Given the description of an element on the screen output the (x, y) to click on. 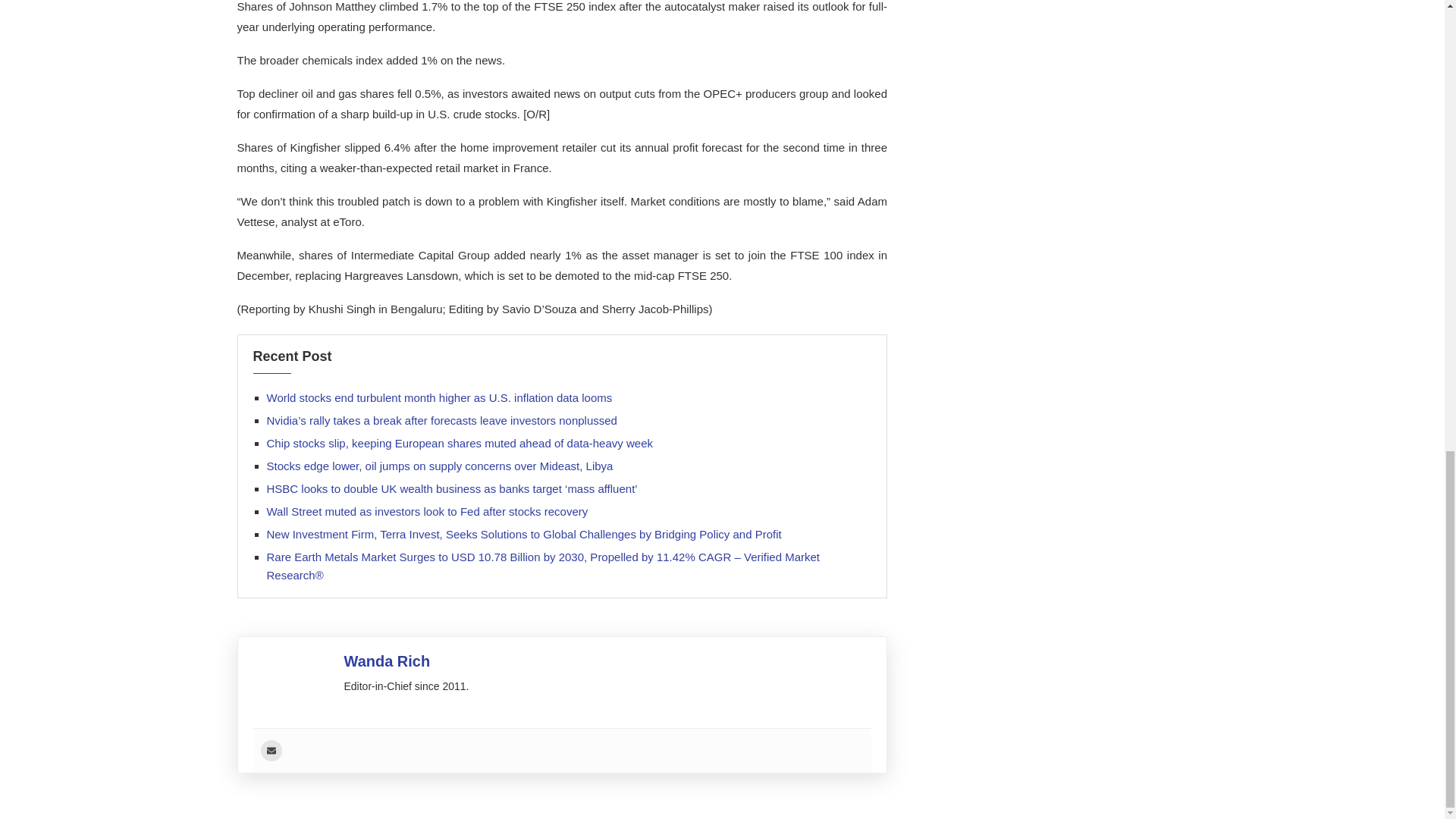
User email (271, 750)
Wanda Rich (386, 660)
